Given the description of an element on the screen output the (x, y) to click on. 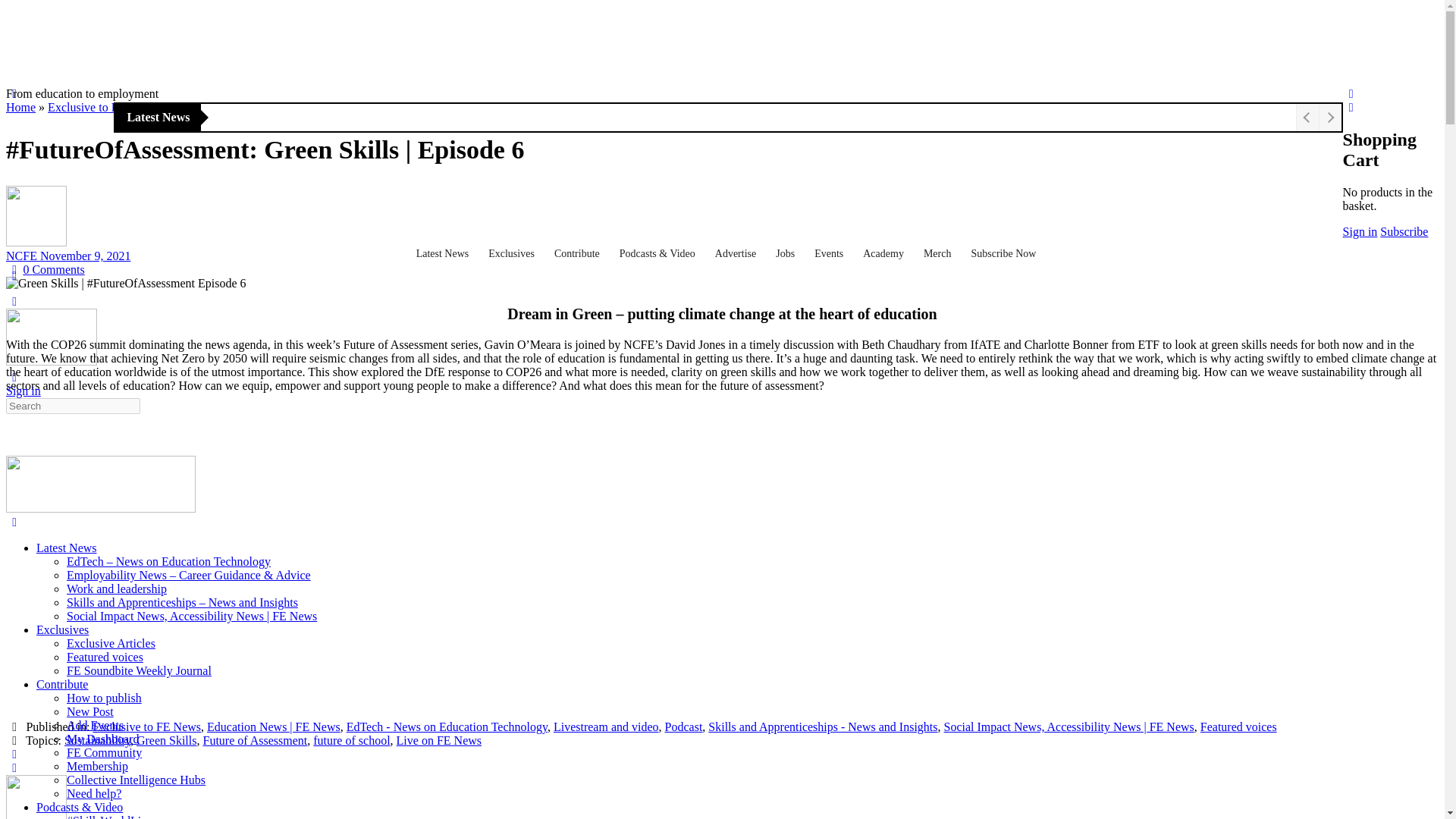
Latest News (445, 254)
Sign in (1359, 231)
Subscribe (1404, 231)
Exclusives (513, 254)
